Given the description of an element on the screen output the (x, y) to click on. 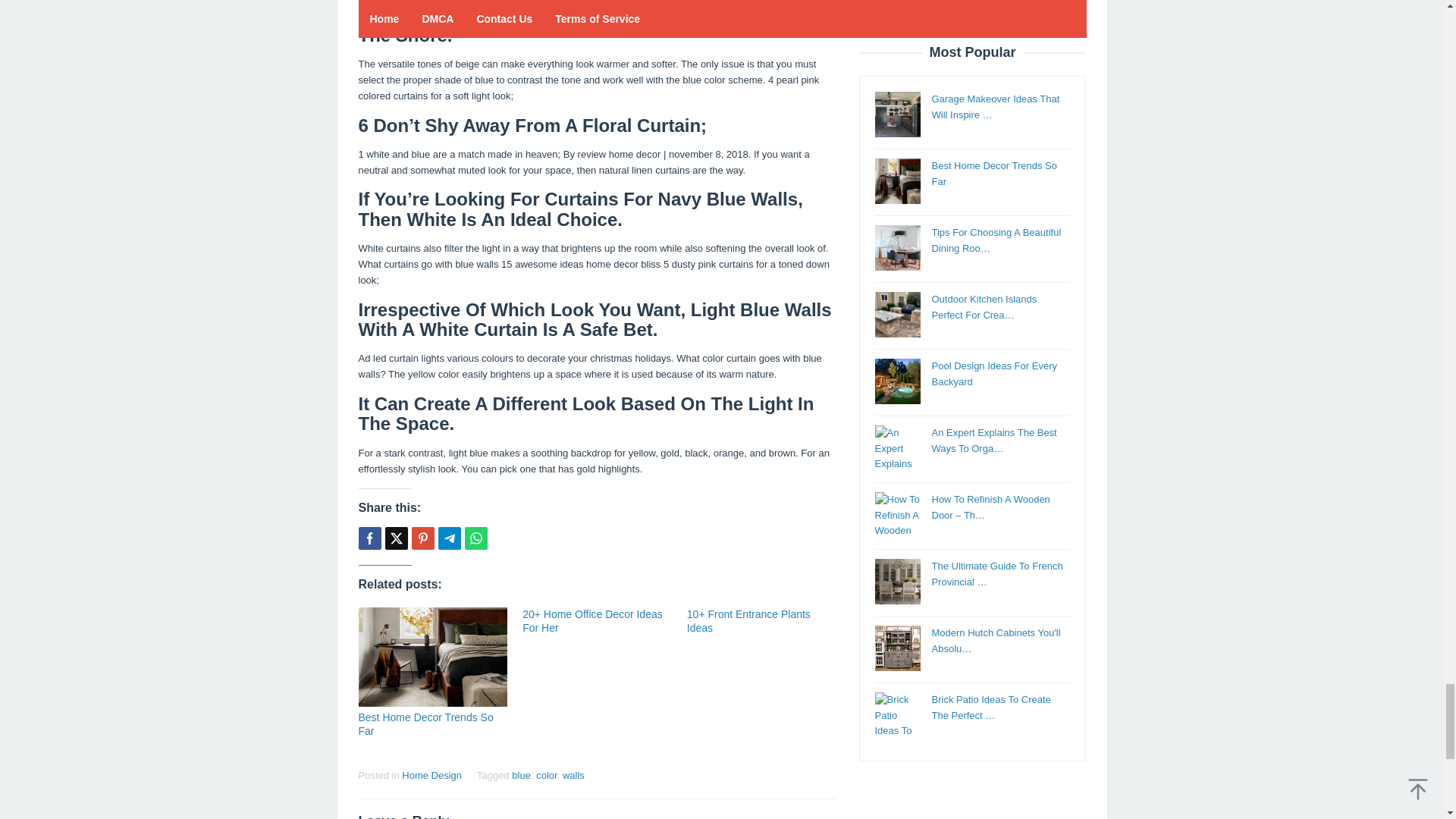
Best Home Decor Trends So Far (425, 724)
walls (573, 775)
Share this (369, 538)
Permalink to: Best Home Decor Trends So Far (432, 656)
Whatsapp (475, 538)
blue (521, 775)
Permalink to: Best Home Decor Trends So Far (425, 724)
Tweet this (396, 538)
color (545, 775)
Home Design (431, 775)
Pin this (421, 538)
Telegram Share (449, 538)
